Given the description of an element on the screen output the (x, y) to click on. 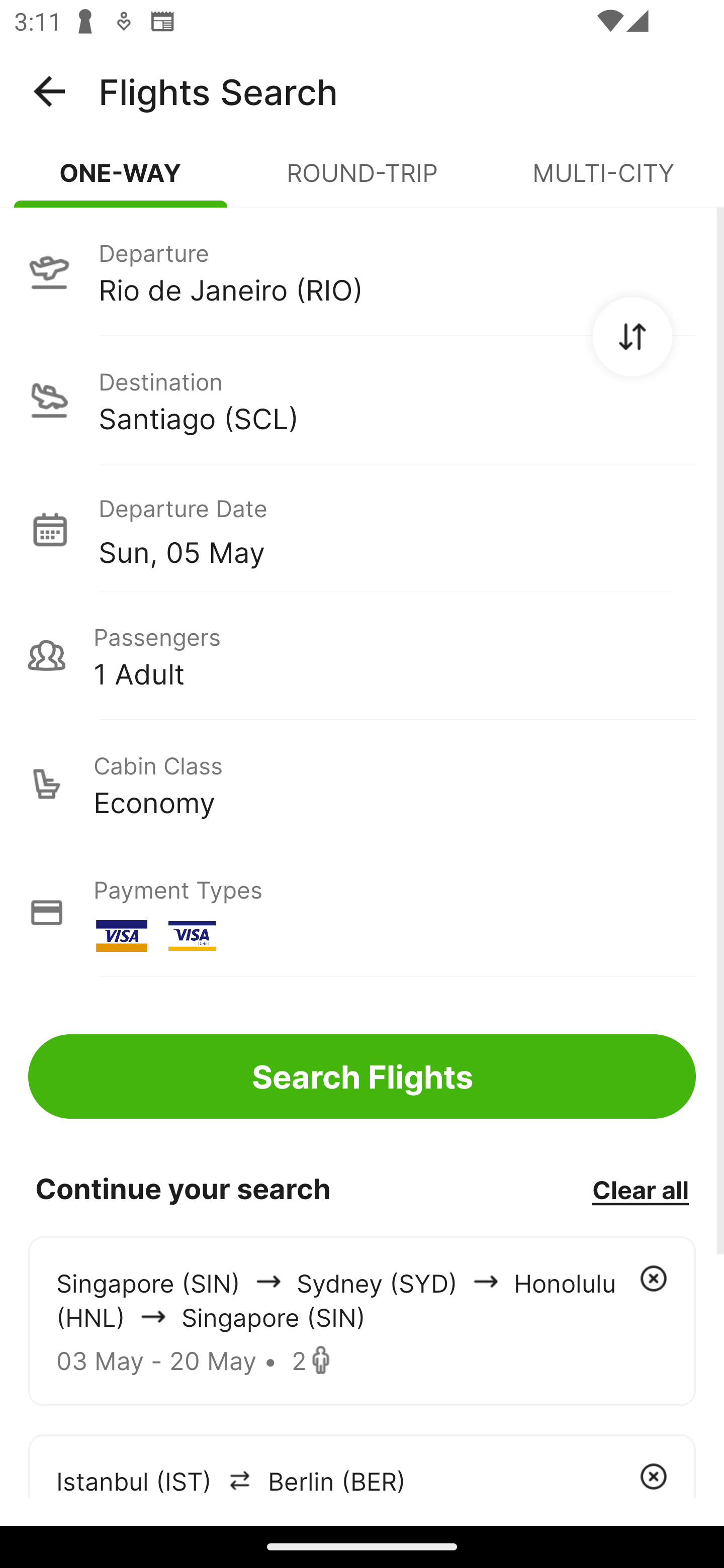
ONE-WAY (120, 180)
ROUND-TRIP (361, 180)
MULTI-CITY (603, 180)
Departure Rio de Janeiro (RIO) (362, 270)
Destination Santiago (SCL) (362, 400)
Departure Date Sun, 05 May (396, 528)
Passengers 1 Adult (362, 655)
Cabin Class Economy (362, 783)
Payment Types (362, 912)
Search Flights (361, 1075)
Clear all (640, 1189)
Istanbul (IST)  arrowIcon  Berlin (BER) (361, 1465)
